Given the description of an element on the screen output the (x, y) to click on. 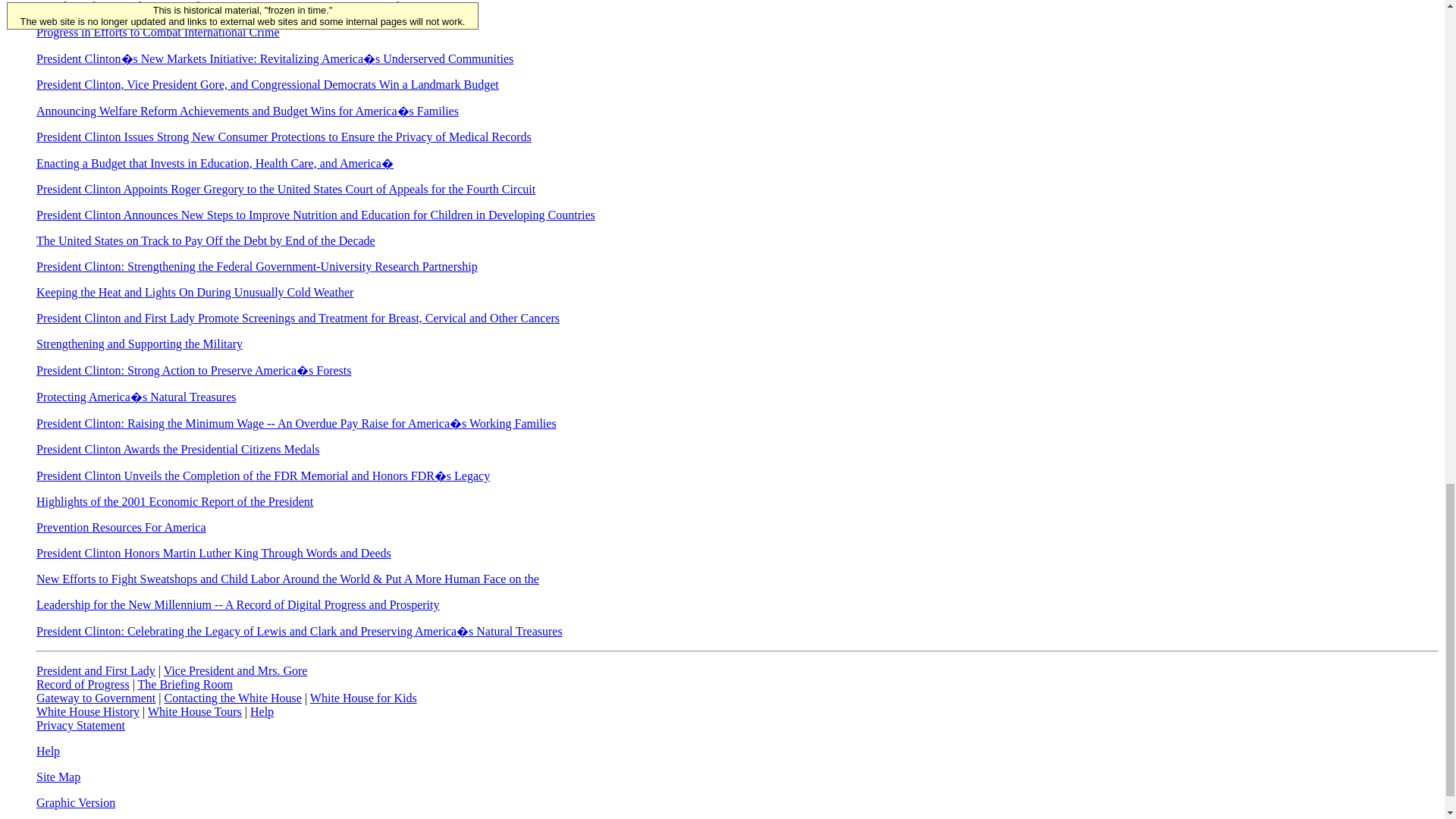
Progress in Efforts to Combat International Crime (157, 31)
Strengthening and Supporting the Military (139, 343)
President Clinton Awards the Presidential Citizens Medals (178, 449)
